Given the description of an element on the screen output the (x, y) to click on. 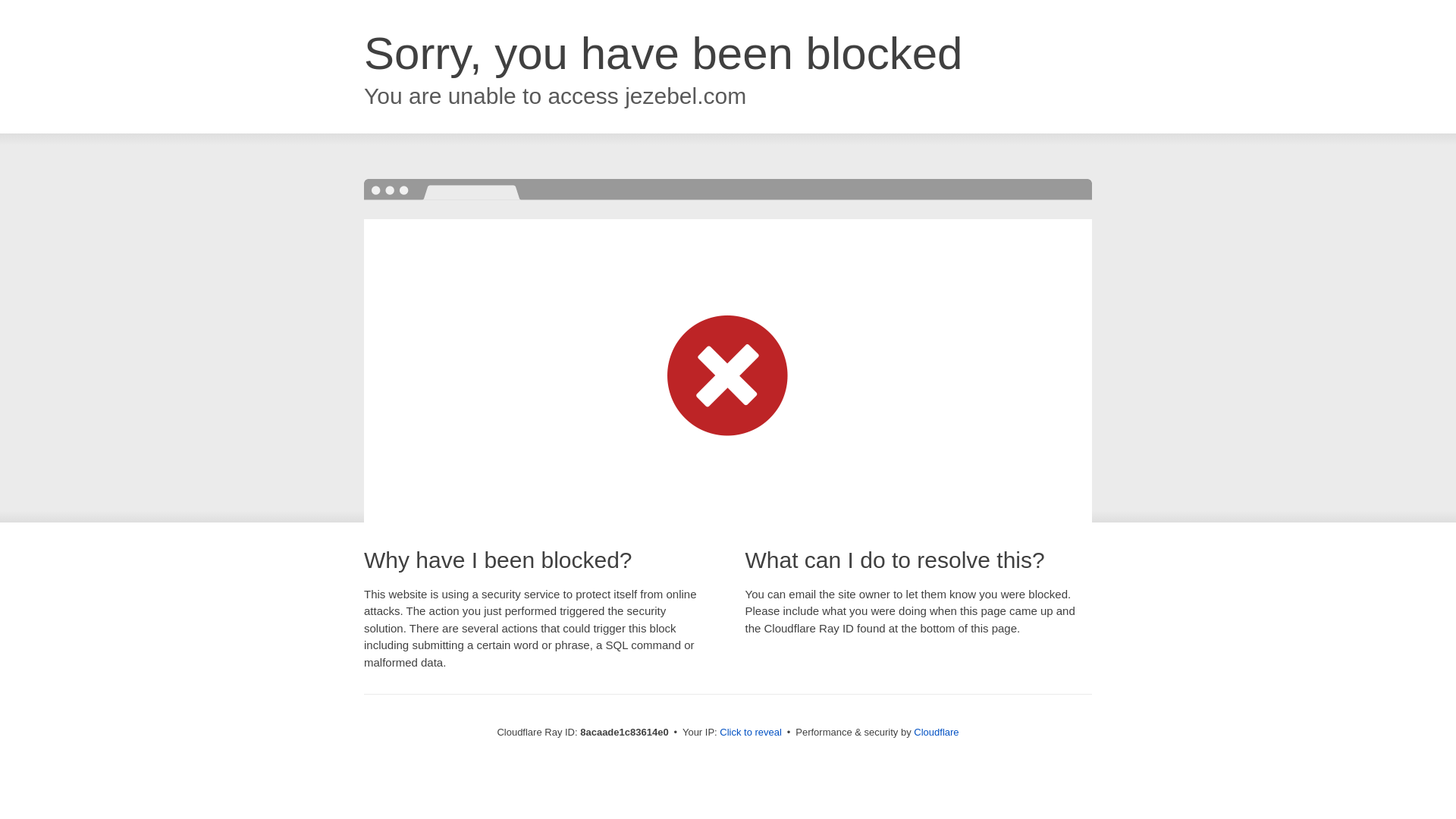
Click to reveal (750, 732)
Cloudflare (936, 731)
